Given the description of an element on the screen output the (x, y) to click on. 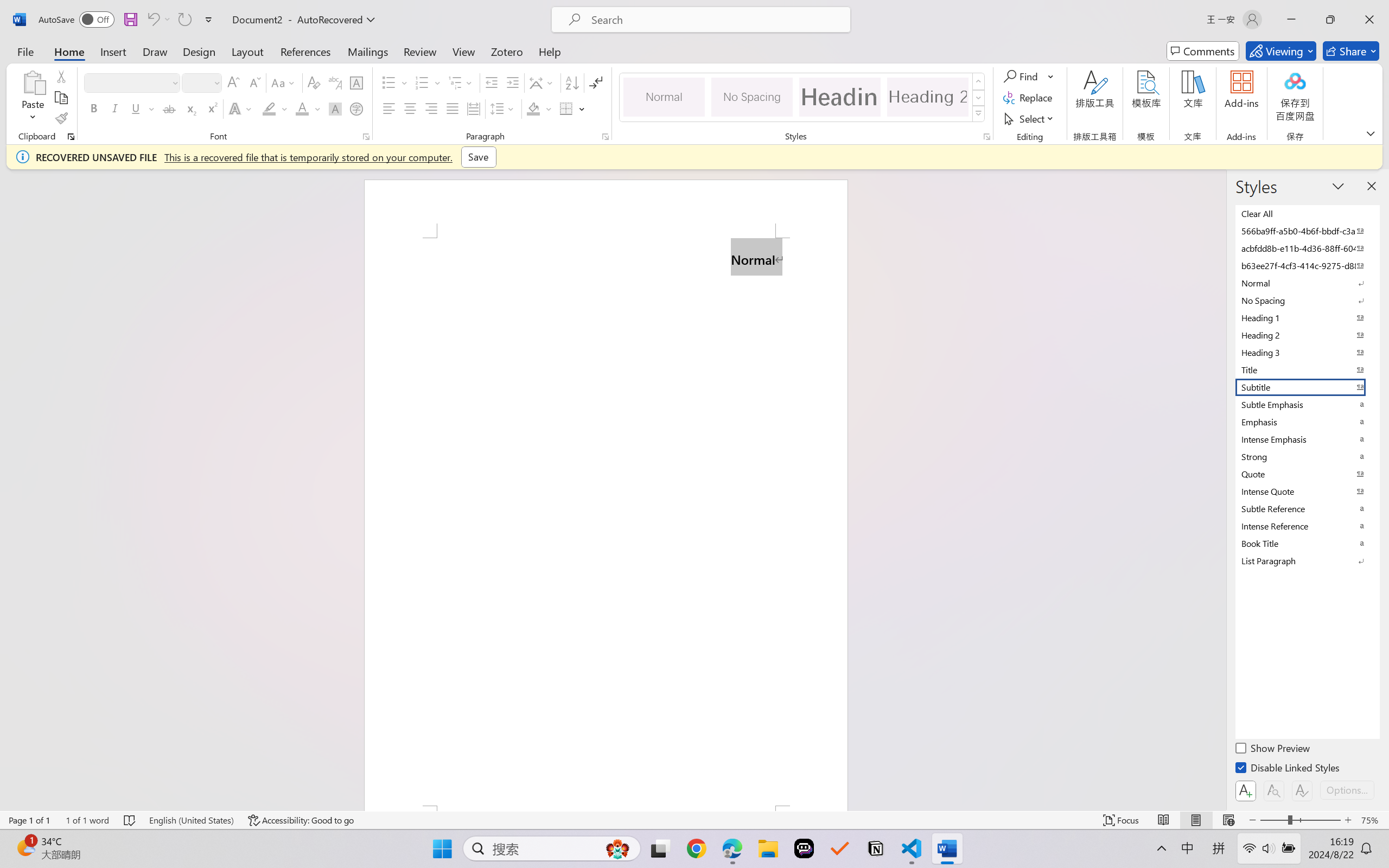
Character Shading (334, 108)
Task Pane Options (1338, 185)
Show/Hide Editing Marks (595, 82)
Align Right (431, 108)
Open (215, 82)
Distributed (473, 108)
Styles... (986, 136)
Bold (94, 108)
Styles (978, 113)
